Given the description of an element on the screen output the (x, y) to click on. 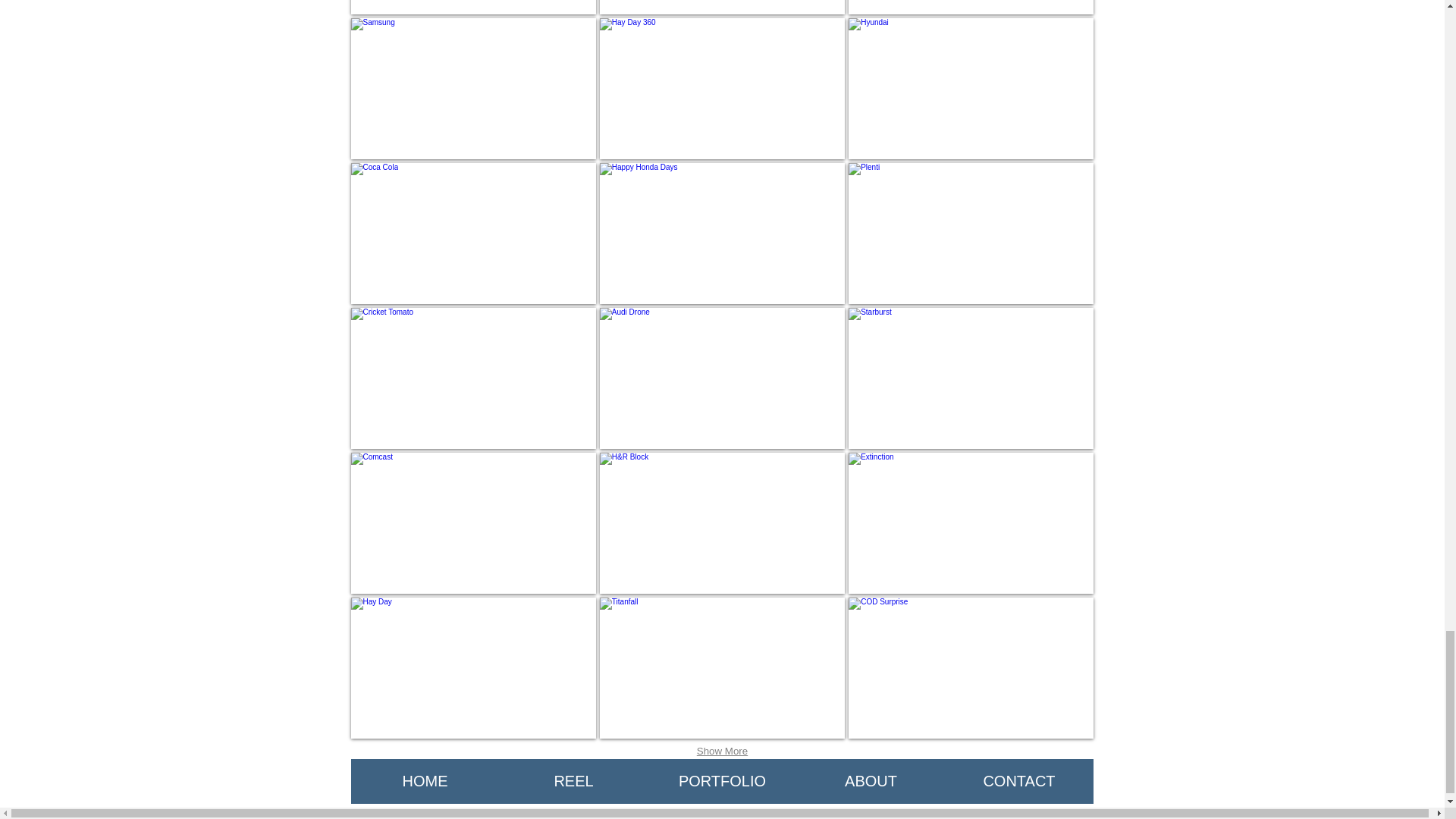
REEL (573, 781)
Show More (721, 751)
HOME (424, 781)
